Given the description of an element on the screen output the (x, y) to click on. 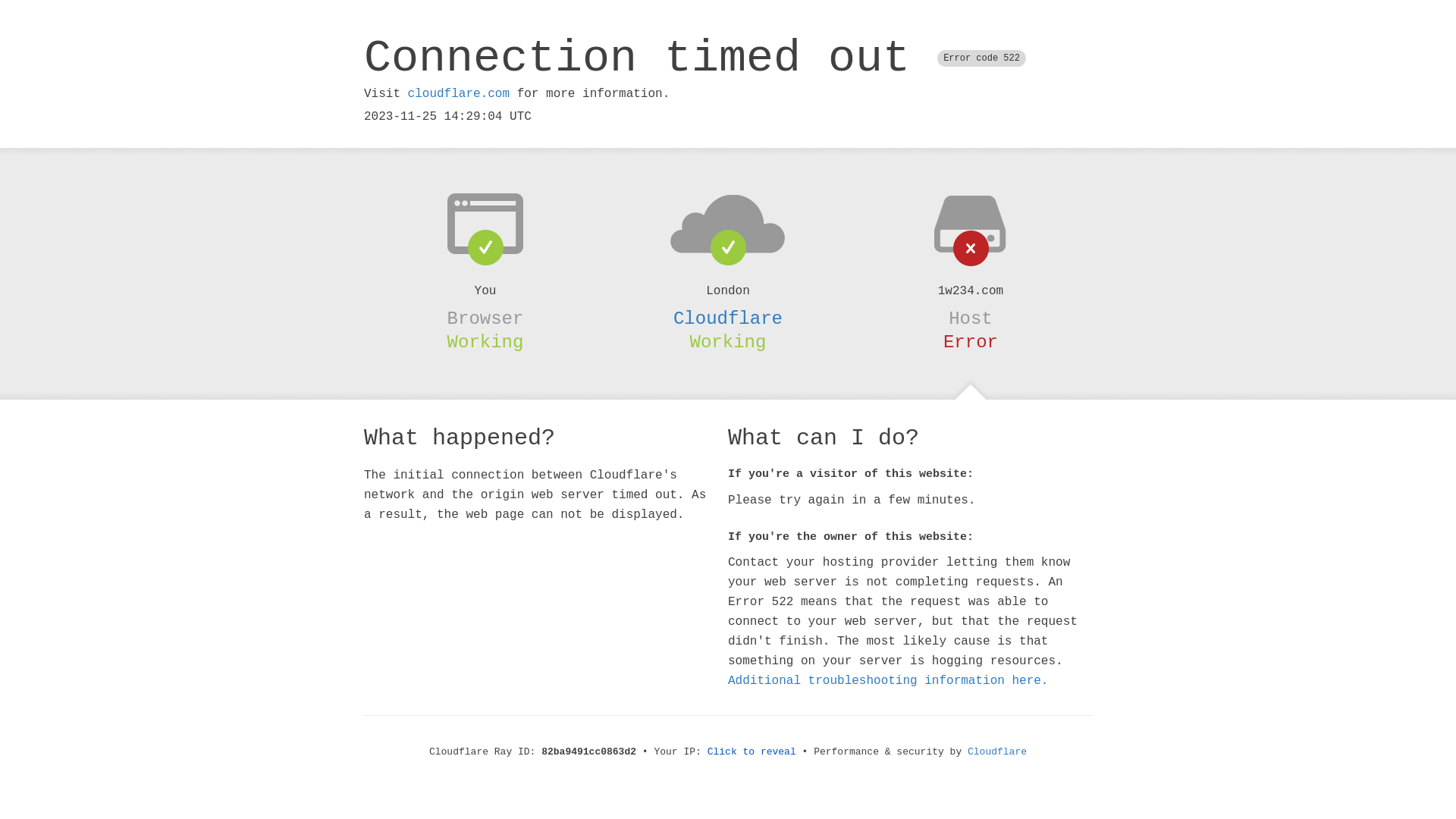
Cloudflare Element type: text (727, 318)
cloudflare.com Element type: text (458, 93)
Click to reveal Element type: text (751, 751)
Additional troubleshooting information here. Element type: text (888, 680)
Cloudflare Element type: text (996, 751)
